Given the description of an element on the screen output the (x, y) to click on. 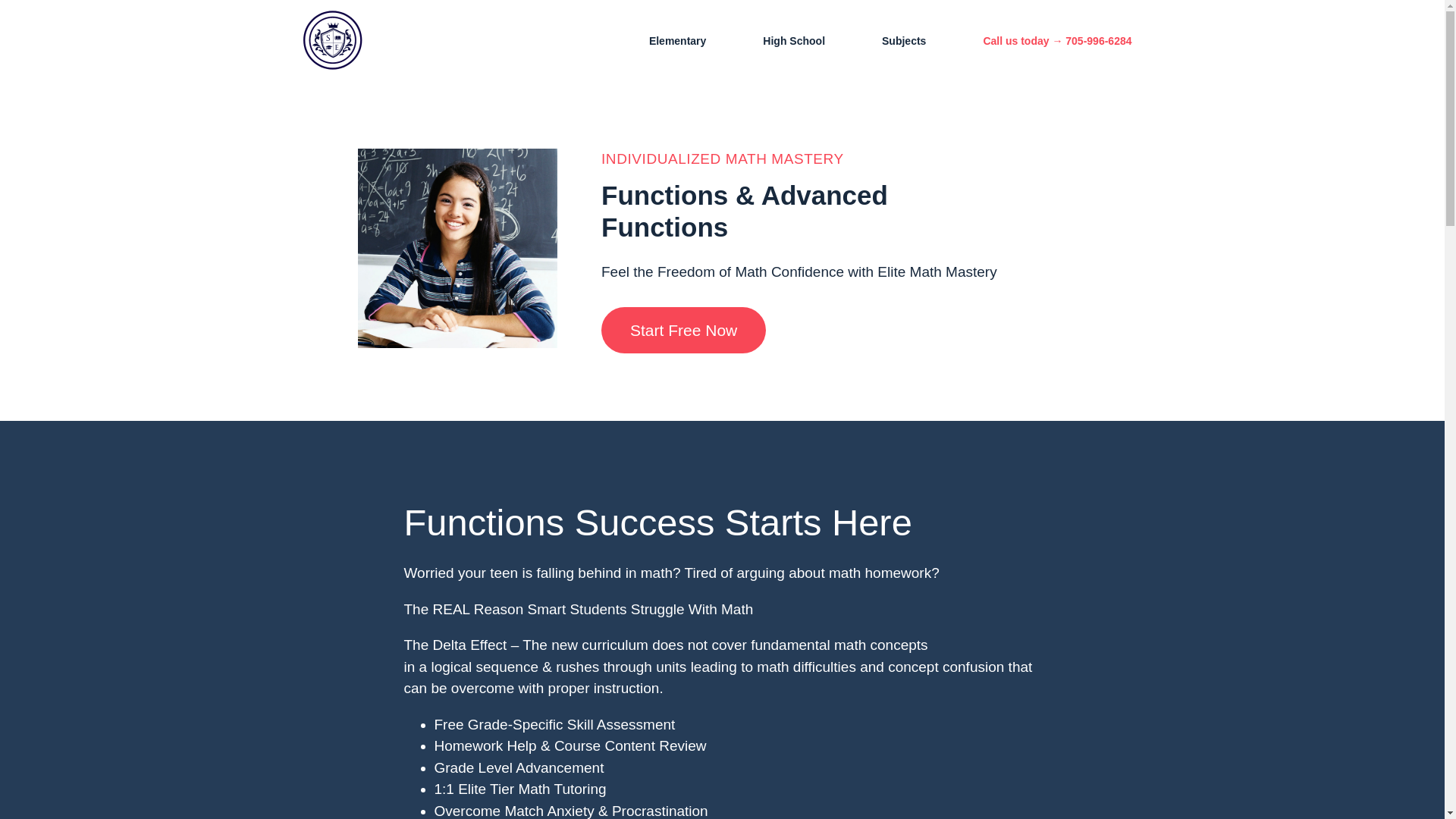
High School (794, 39)
Start Free Now (683, 329)
Subjects (903, 39)
Elementary (676, 39)
